Given the description of an element on the screen output the (x, y) to click on. 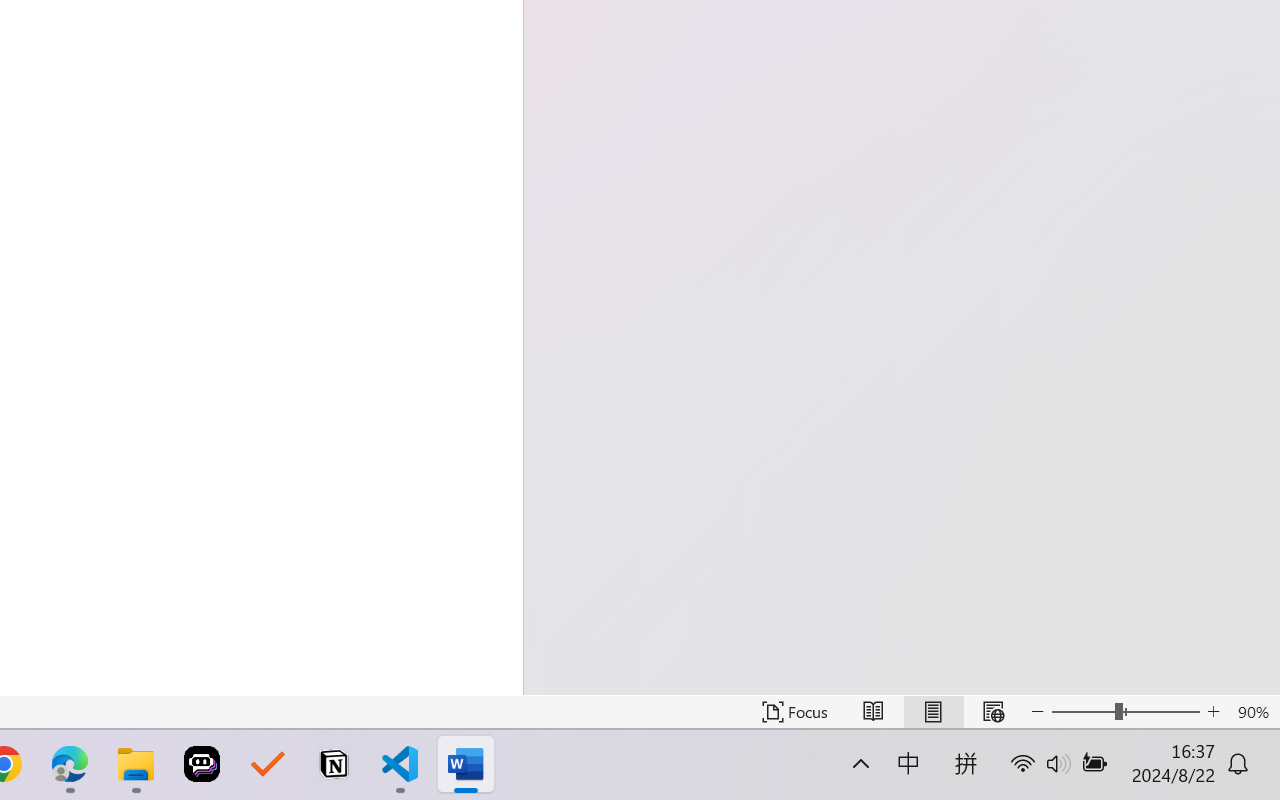
Zoom 90% (1253, 712)
